Given the description of an element on the screen output the (x, y) to click on. 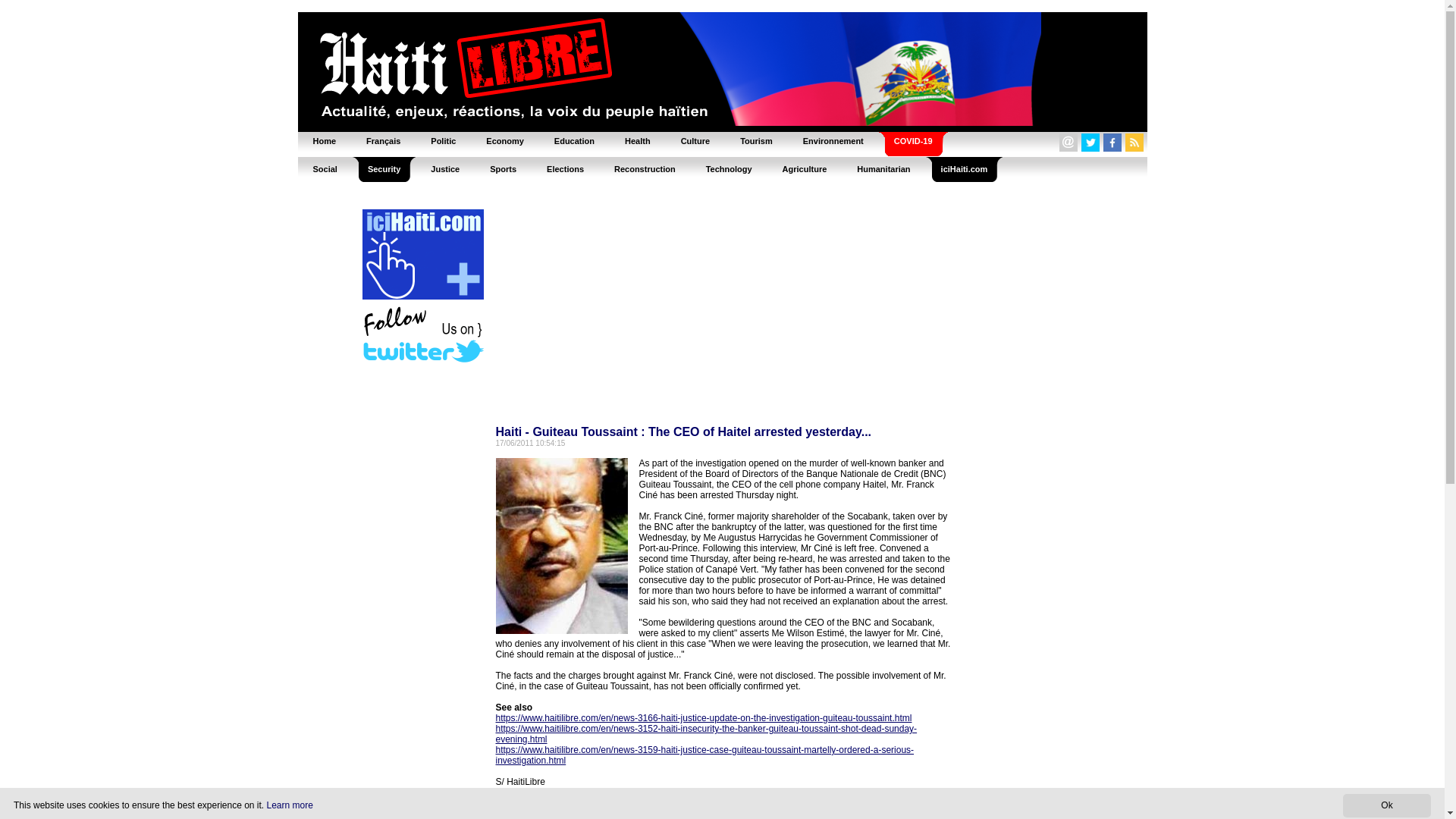
Security (383, 168)
Sports (502, 168)
Home (323, 141)
Home (323, 141)
Agriculture (805, 168)
Security (383, 168)
COVID-19 (913, 141)
iciHaiti.com (964, 168)
Social (324, 168)
Economy (504, 141)
Culture (695, 141)
Reconstruction (644, 168)
Education (574, 141)
Humanitarian (882, 168)
Tourism (756, 141)
